Given the description of an element on the screen output the (x, y) to click on. 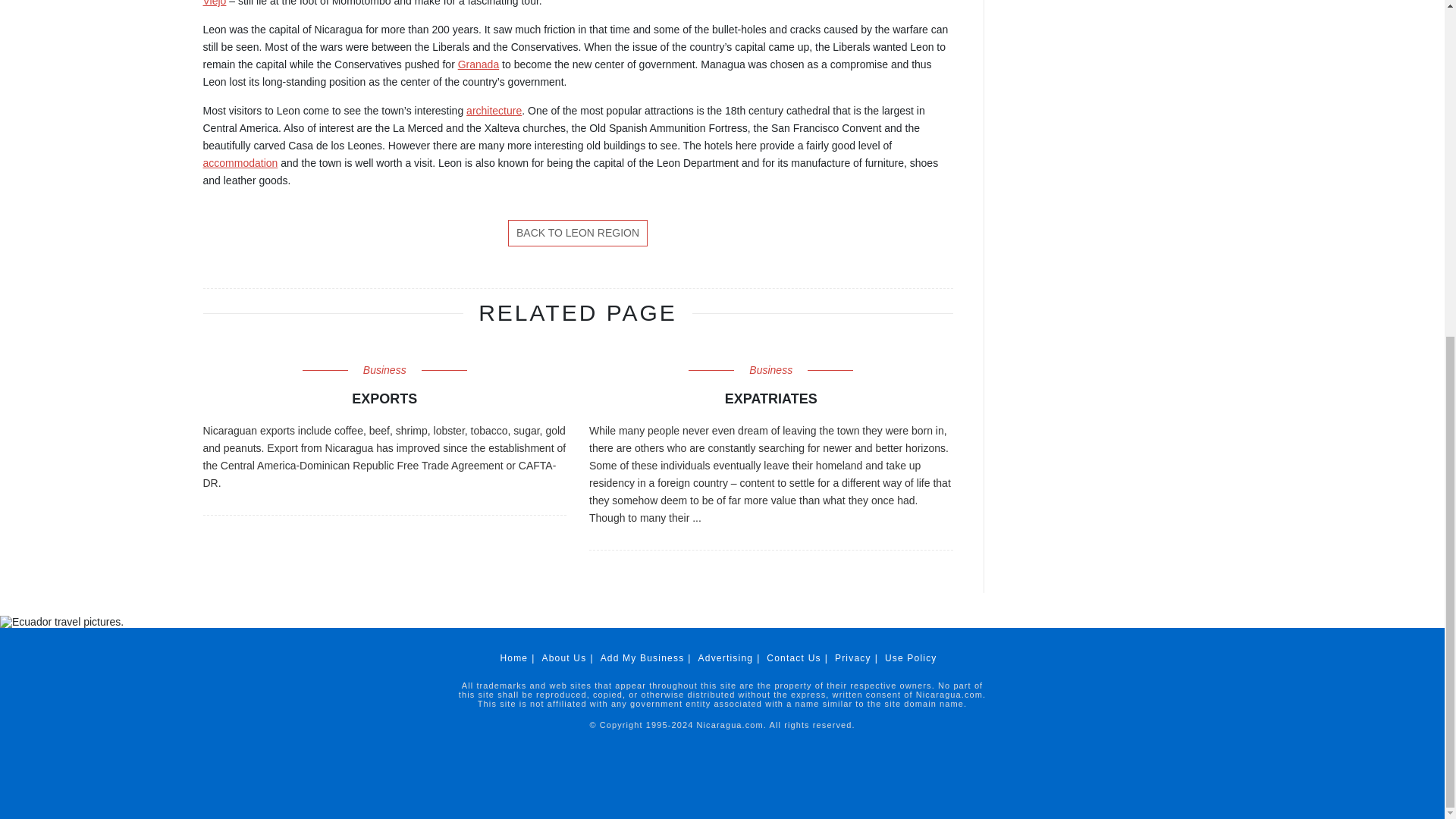
Accommodation Options in Nicaragua (240, 162)
A Day Trip to Granada (478, 64)
Architecture of Nicaragua (493, 110)
Leon Region (577, 233)
